Given the description of an element on the screen output the (x, y) to click on. 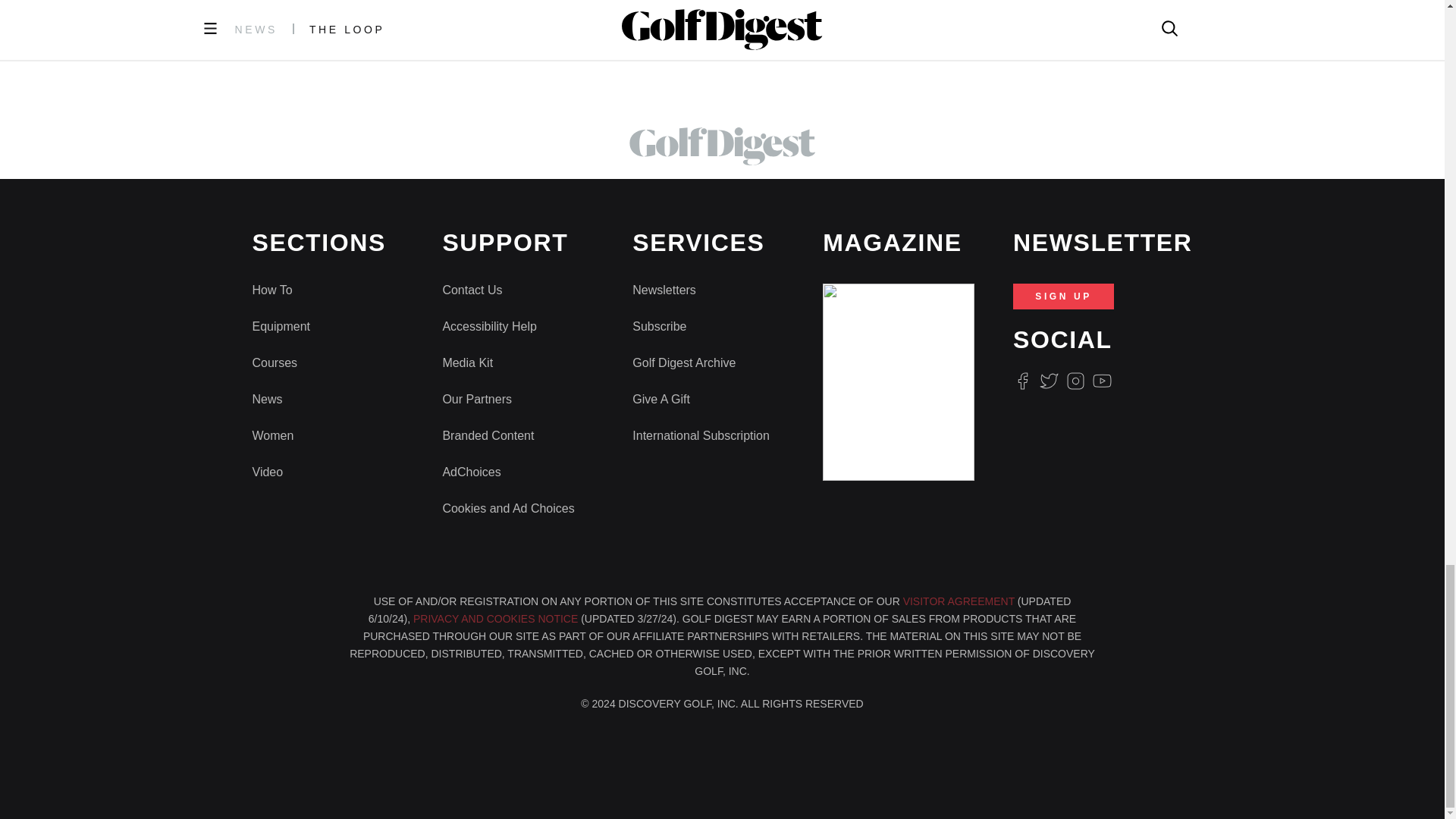
Facebook Logo (1022, 380)
Twitter Logo (1048, 380)
Youtube Icon (1102, 380)
Instagram Logo (1074, 380)
